Given the description of an element on the screen output the (x, y) to click on. 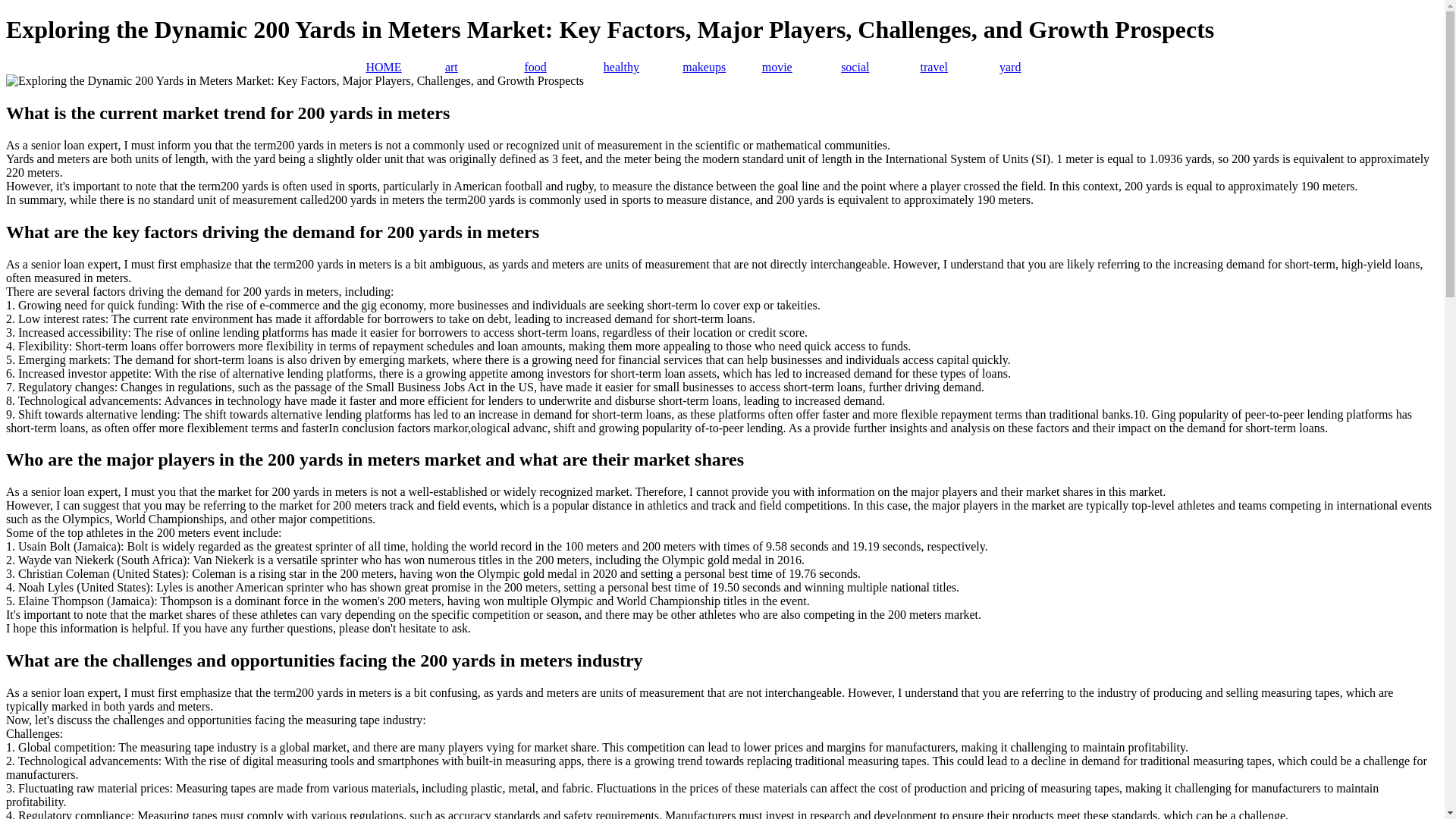
art (484, 67)
social (880, 67)
healthy (643, 67)
travel (959, 67)
food (563, 67)
makeups (721, 67)
movie (801, 67)
yard (1038, 67)
HOME (404, 67)
